Given the description of an element on the screen output the (x, y) to click on. 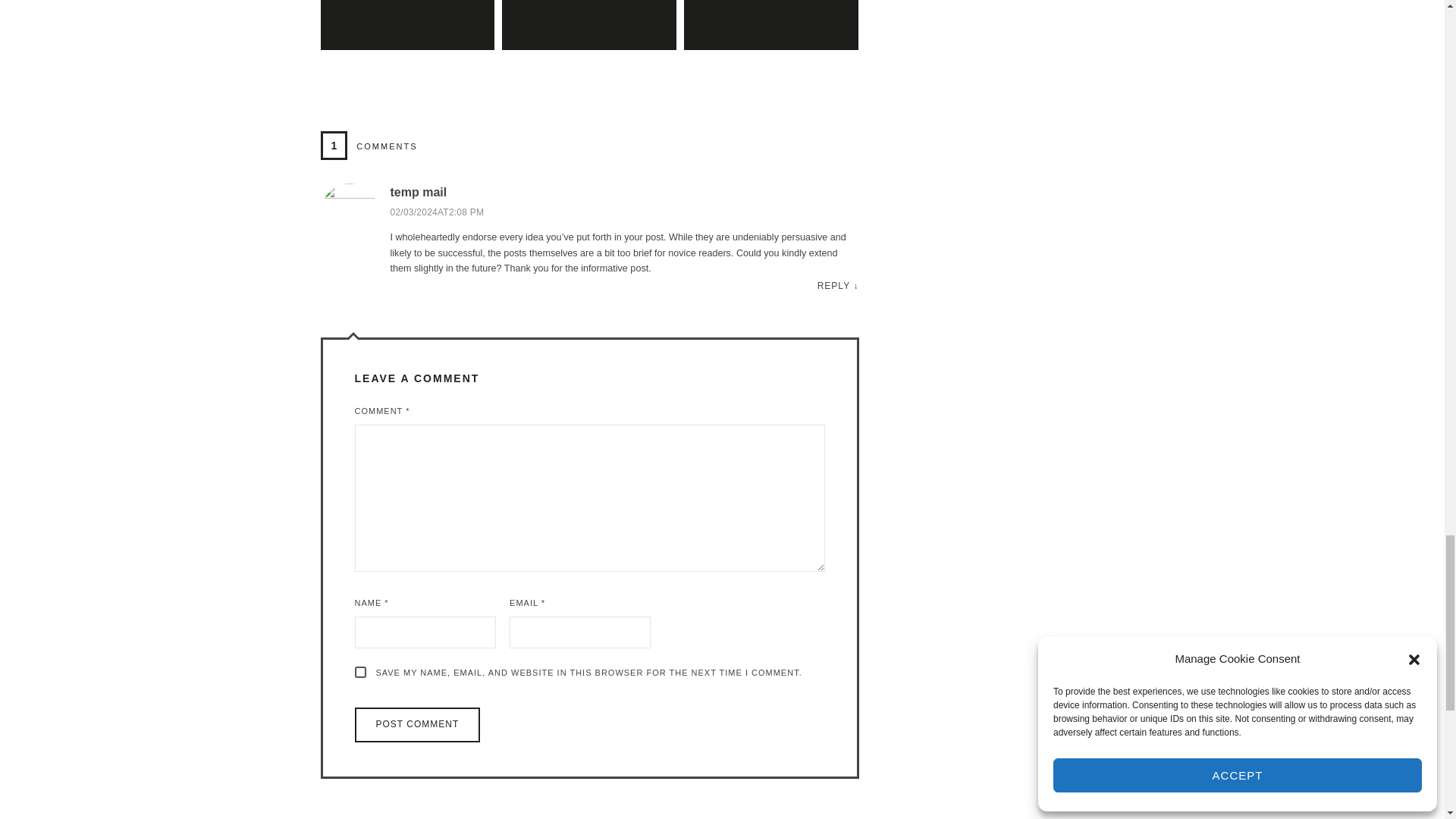
Post Comment (417, 724)
yes (360, 672)
